Given the description of an element on the screen output the (x, y) to click on. 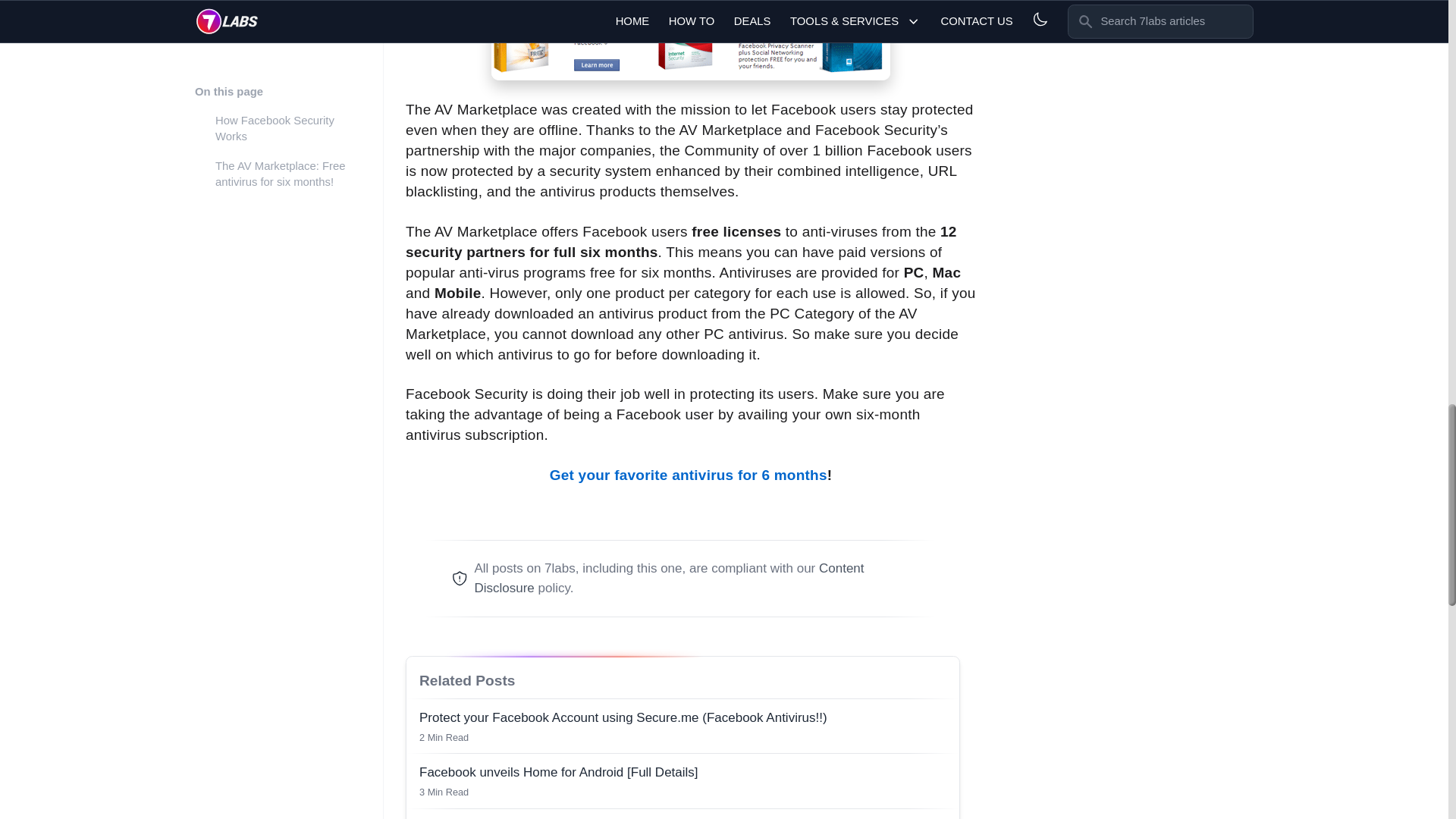
Get your favorite antivirus for 6 months (688, 474)
Content Disclosure (682, 813)
